Given the description of an element on the screen output the (x, y) to click on. 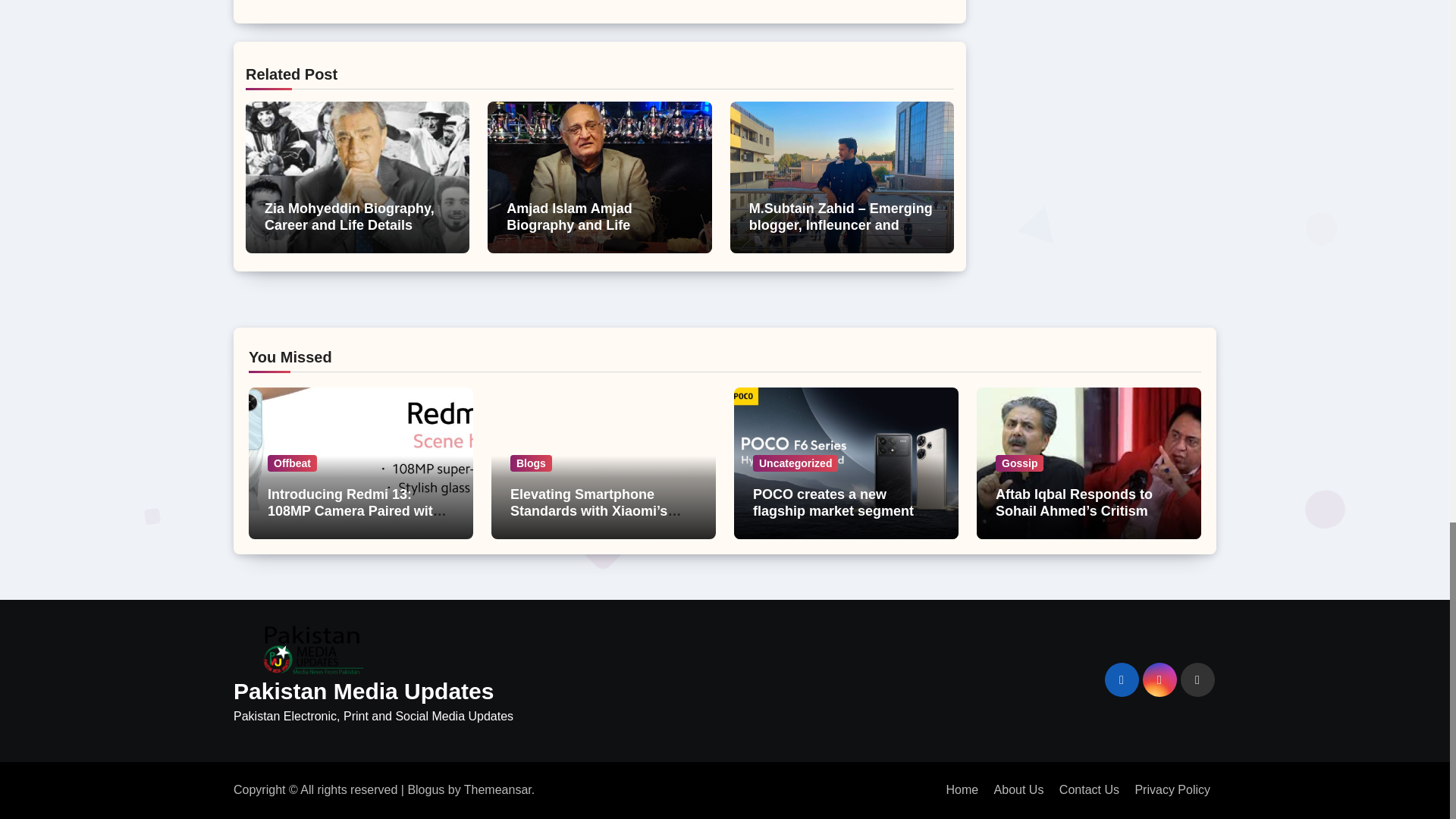
Amjad Islam Amjad Biography and Life Achievements (574, 224)
Zia Mohyeddin Biography, Career and Life Details (348, 216)
